Given the description of an element on the screen output the (x, y) to click on. 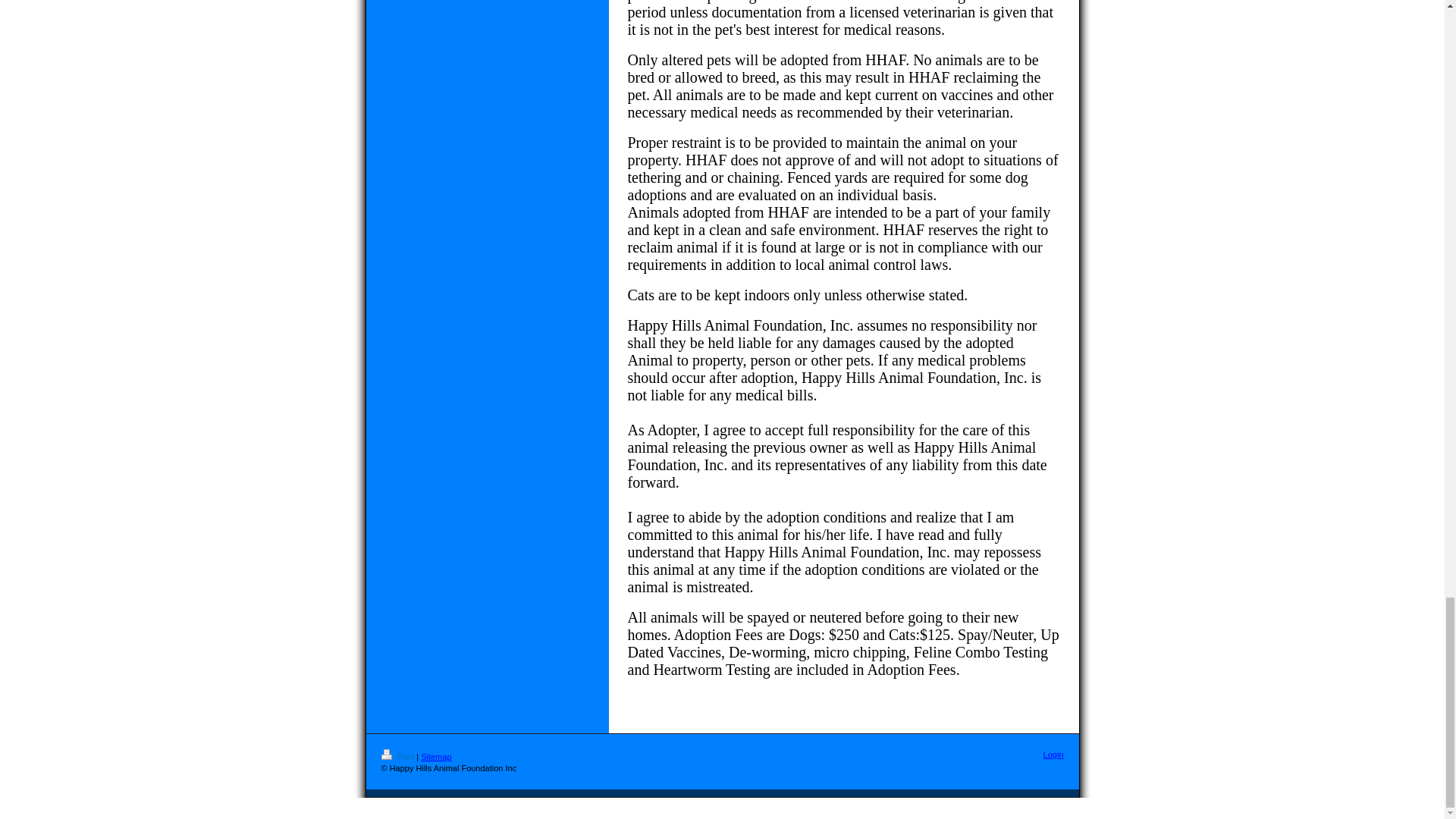
Sitemap (435, 756)
Print (398, 756)
Login (1053, 754)
